Given the description of an element on the screen output the (x, y) to click on. 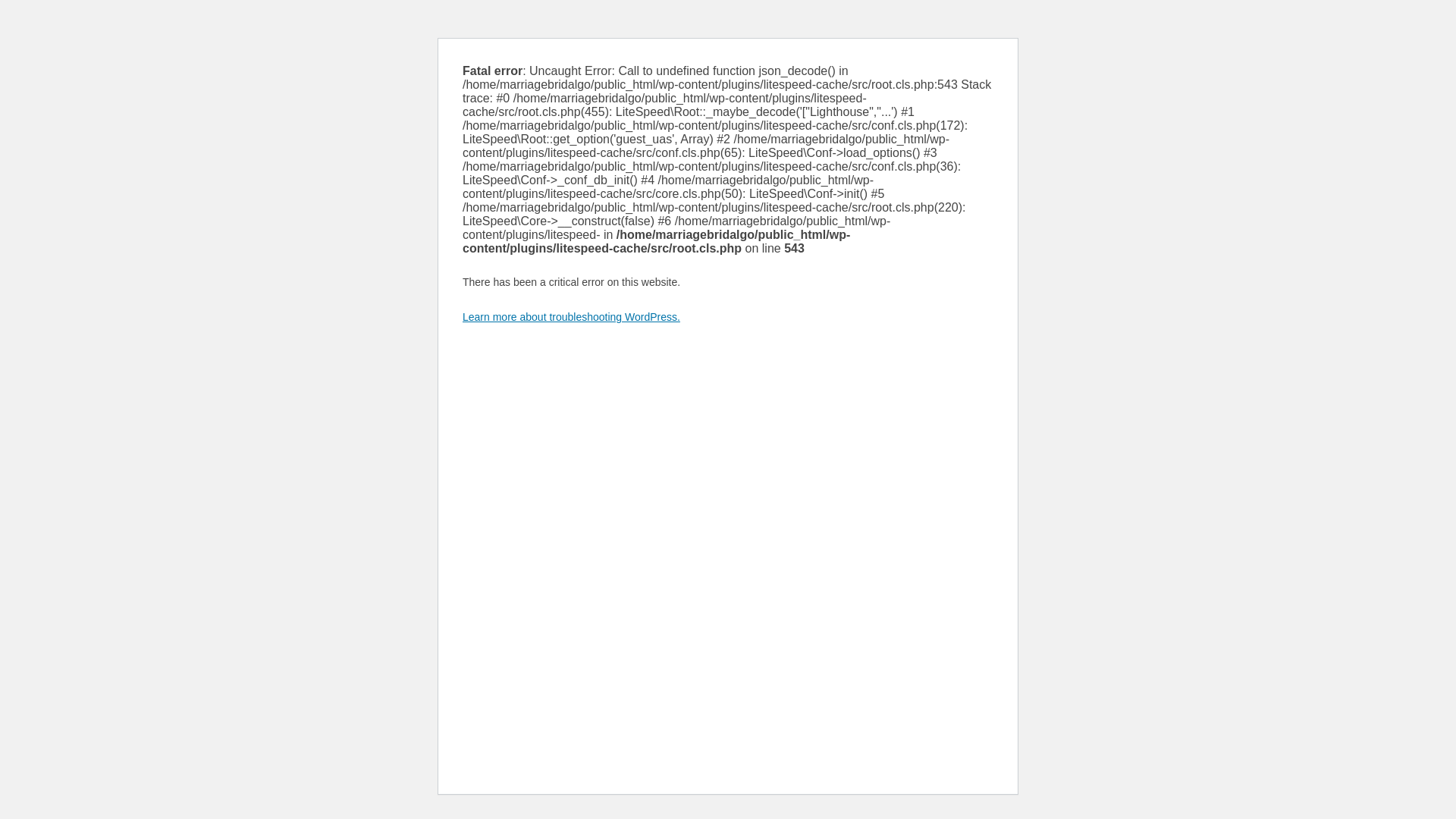
Learn more about troubleshooting WordPress. (571, 316)
